Given the description of an element on the screen output the (x, y) to click on. 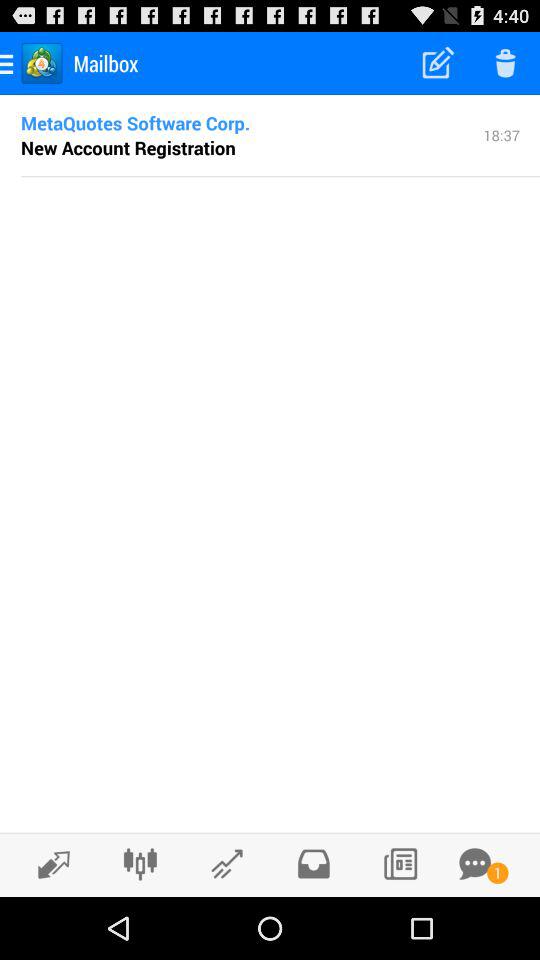
open icon next to metaquotes software corp. icon (501, 134)
